Given the description of an element on the screen output the (x, y) to click on. 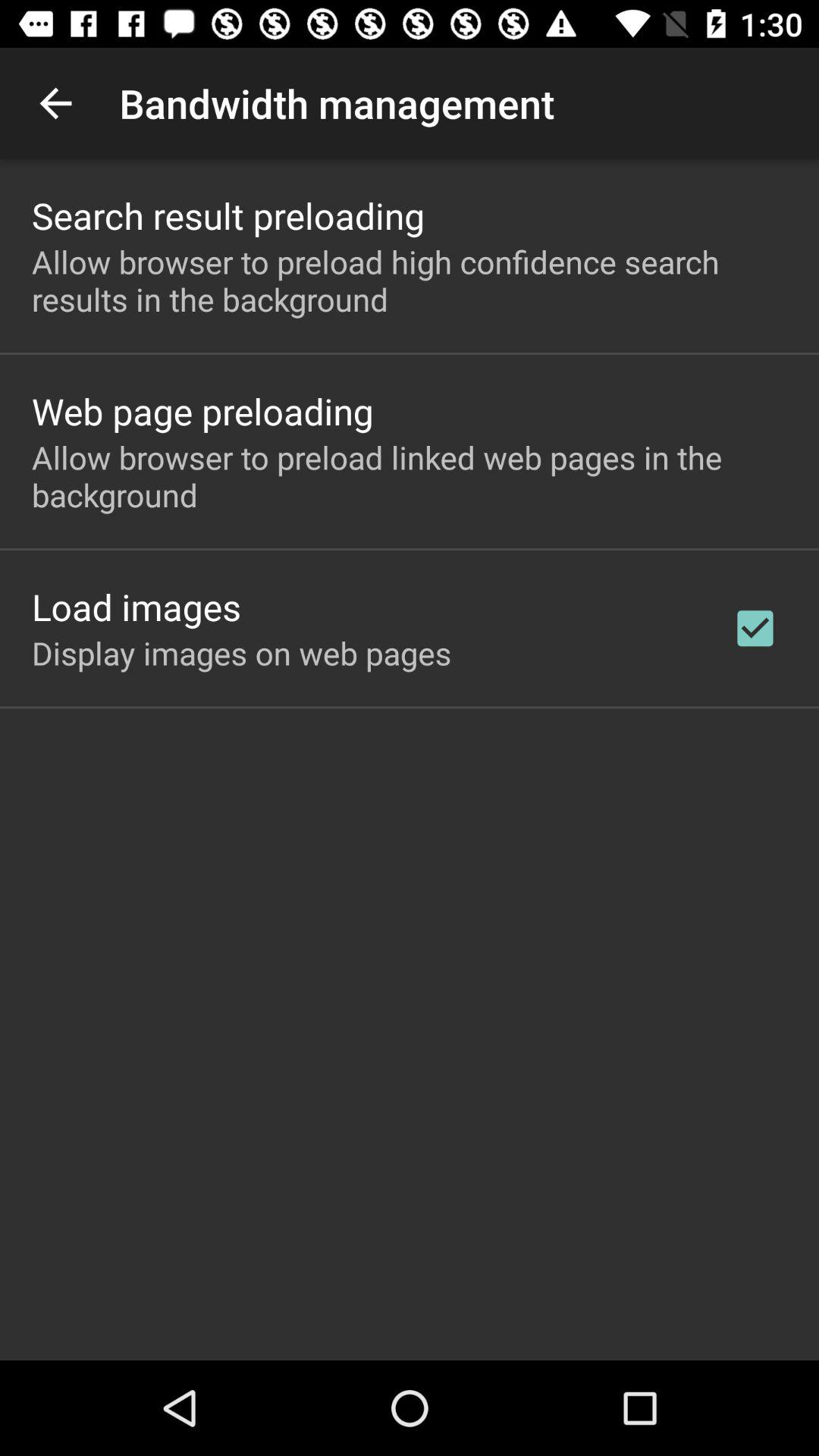
scroll to the load images (136, 606)
